Given the description of an element on the screen output the (x, y) to click on. 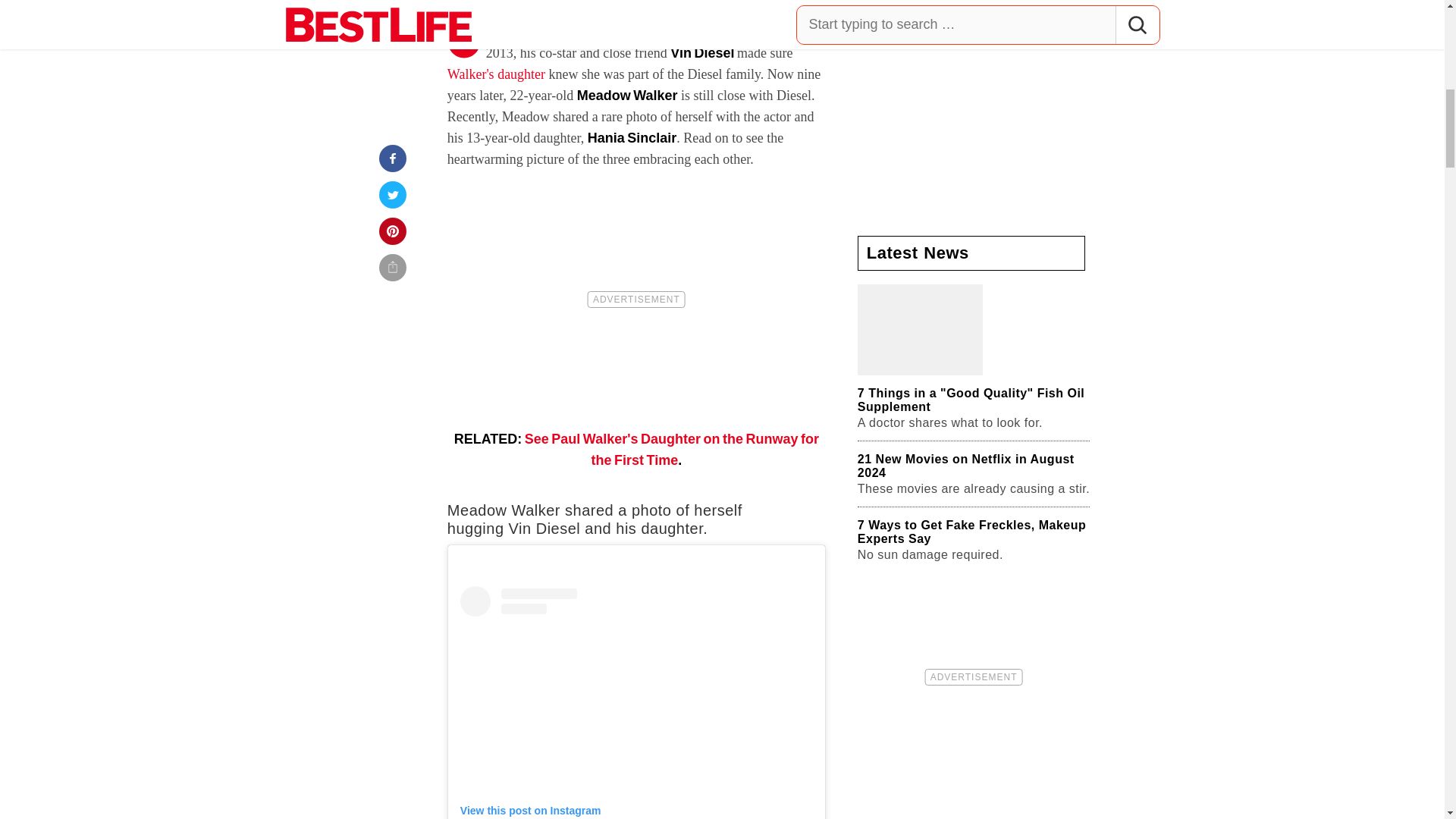
Walker's daughter (495, 73)
See Paul Walker's Daughter on the Runway for the First Time (671, 449)
Share via email (392, 2)
